Given the description of an element on the screen output the (x, y) to click on. 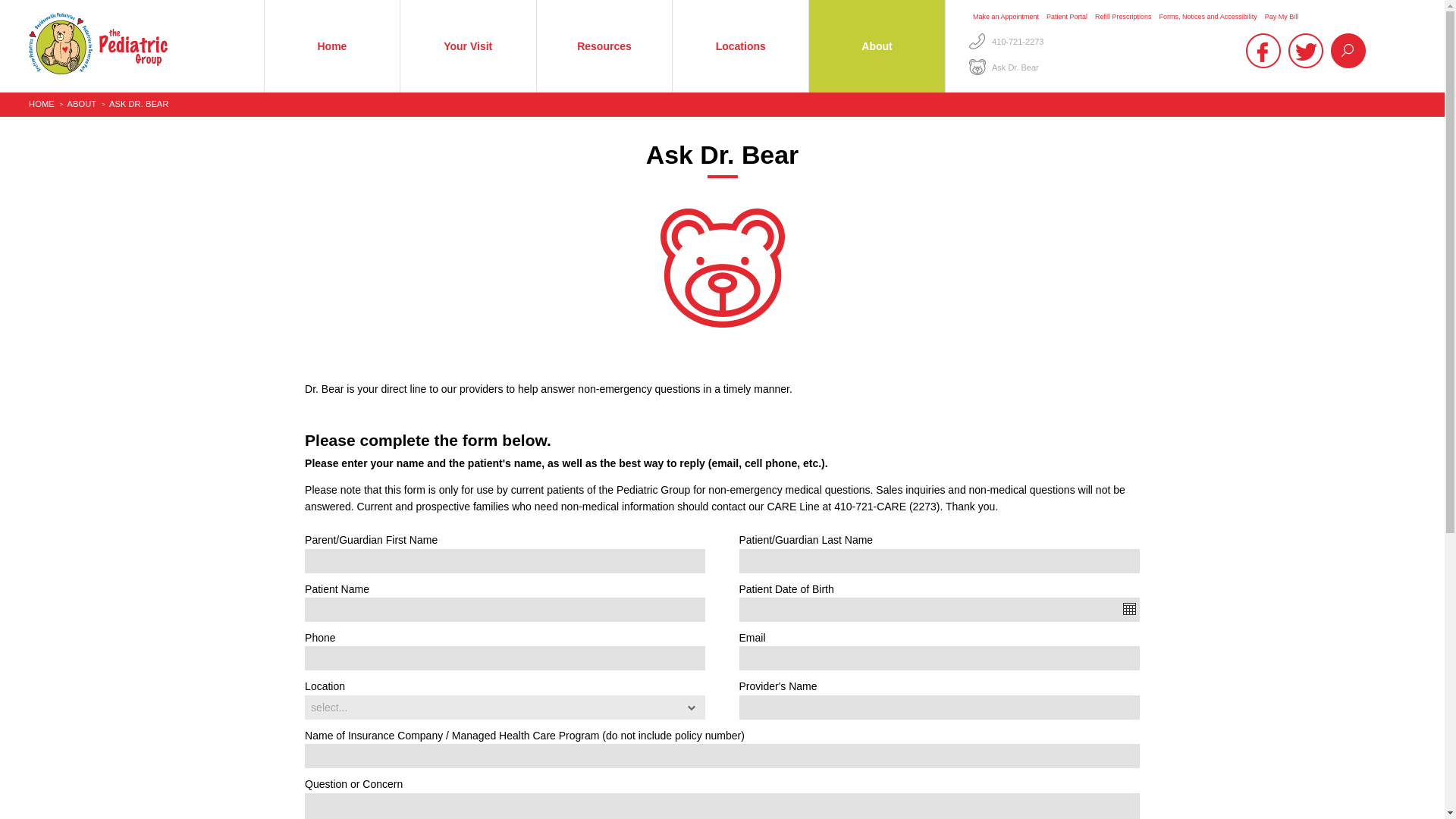
Make an Appointment (1005, 16)
Your Visit (467, 46)
Resources (604, 46)
About (876, 46)
Locations (740, 46)
... (1128, 608)
Ask Dr. Bear (1015, 67)
Home (331, 46)
